Given the description of an element on the screen output the (x, y) to click on. 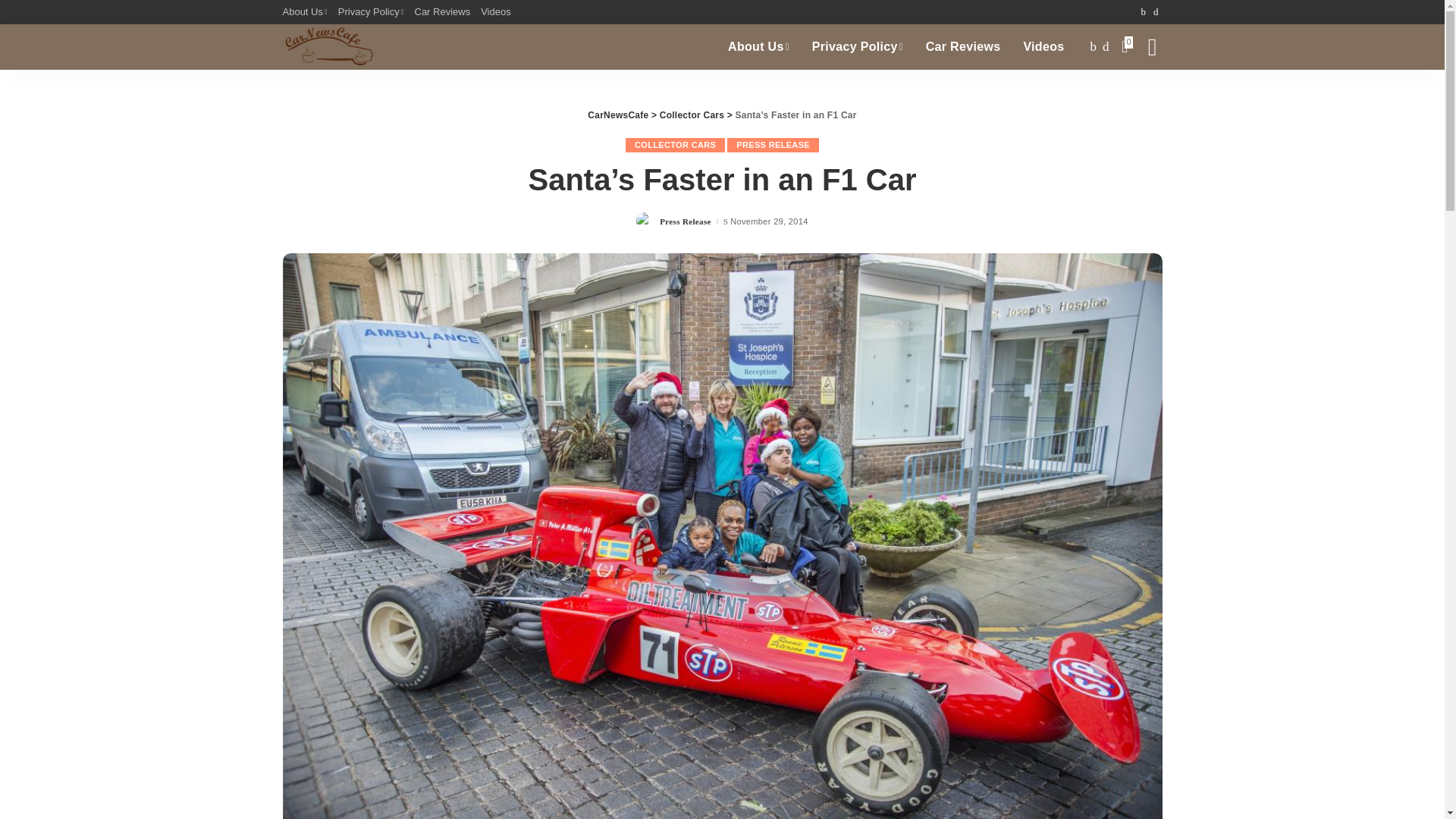
Go to the Collector Cars Category archives. (691, 114)
Videos (496, 12)
Go to CarNewsCafe. (617, 114)
CarNewsCafe (328, 46)
Privacy Policy (371, 12)
Car Reviews (962, 46)
Search (1140, 97)
Privacy Policy (857, 46)
About Us (758, 46)
2014-11-29T11:30:58-05:00 (769, 221)
Car Reviews (442, 12)
About Us (306, 12)
Videos (1043, 46)
